Given the description of an element on the screen output the (x, y) to click on. 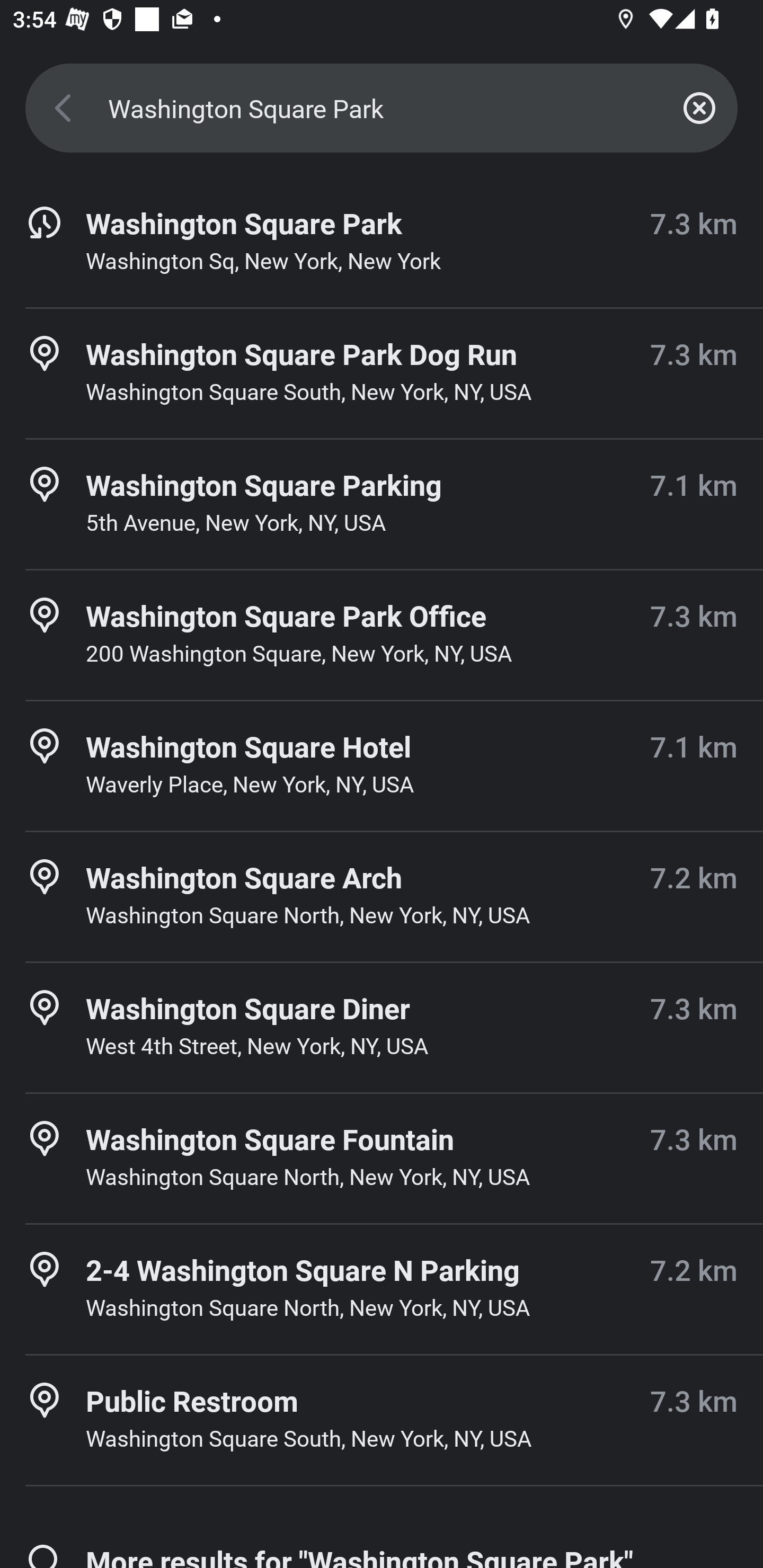
Washington Square Park SEARCH_SCREEN_SEARCH_FIELD (381, 108)
